Given the description of an element on the screen output the (x, y) to click on. 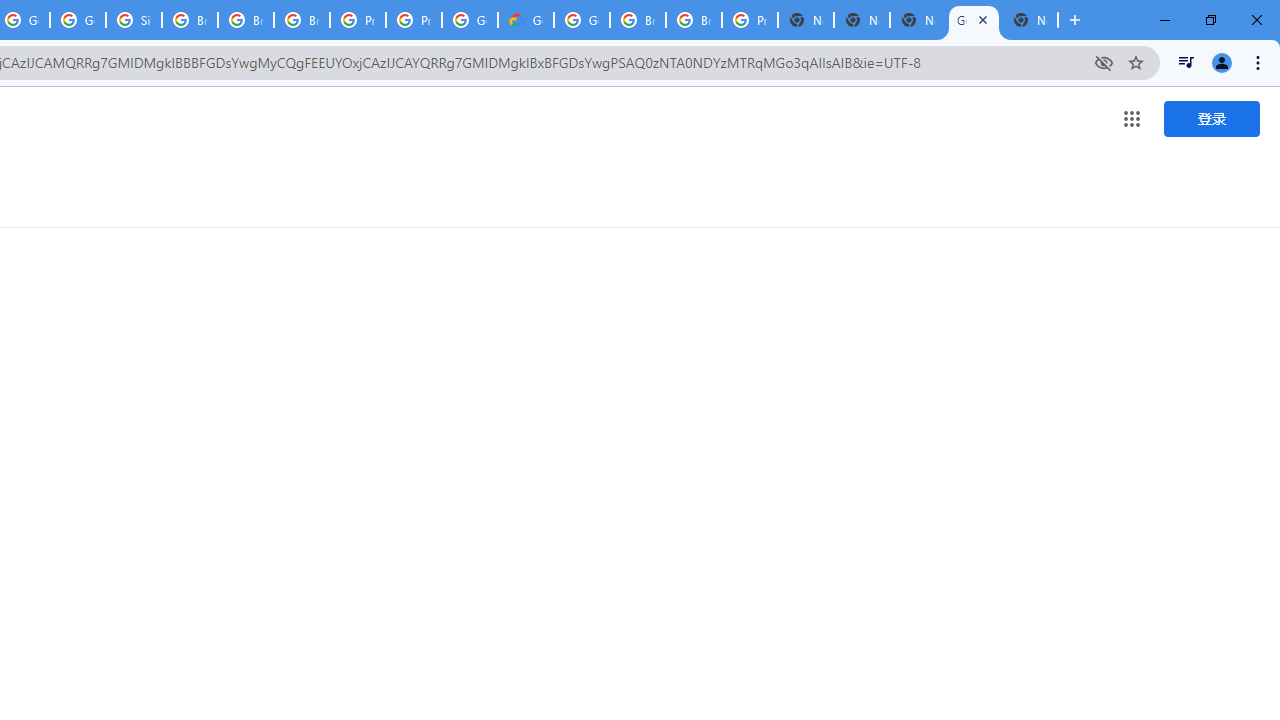
Sign in - Google Accounts (134, 20)
Browse Chrome as a guest - Computer - Google Chrome Help (189, 20)
Browse Chrome as a guest - Computer - Google Chrome Help (637, 20)
